Given the description of an element on the screen output the (x, y) to click on. 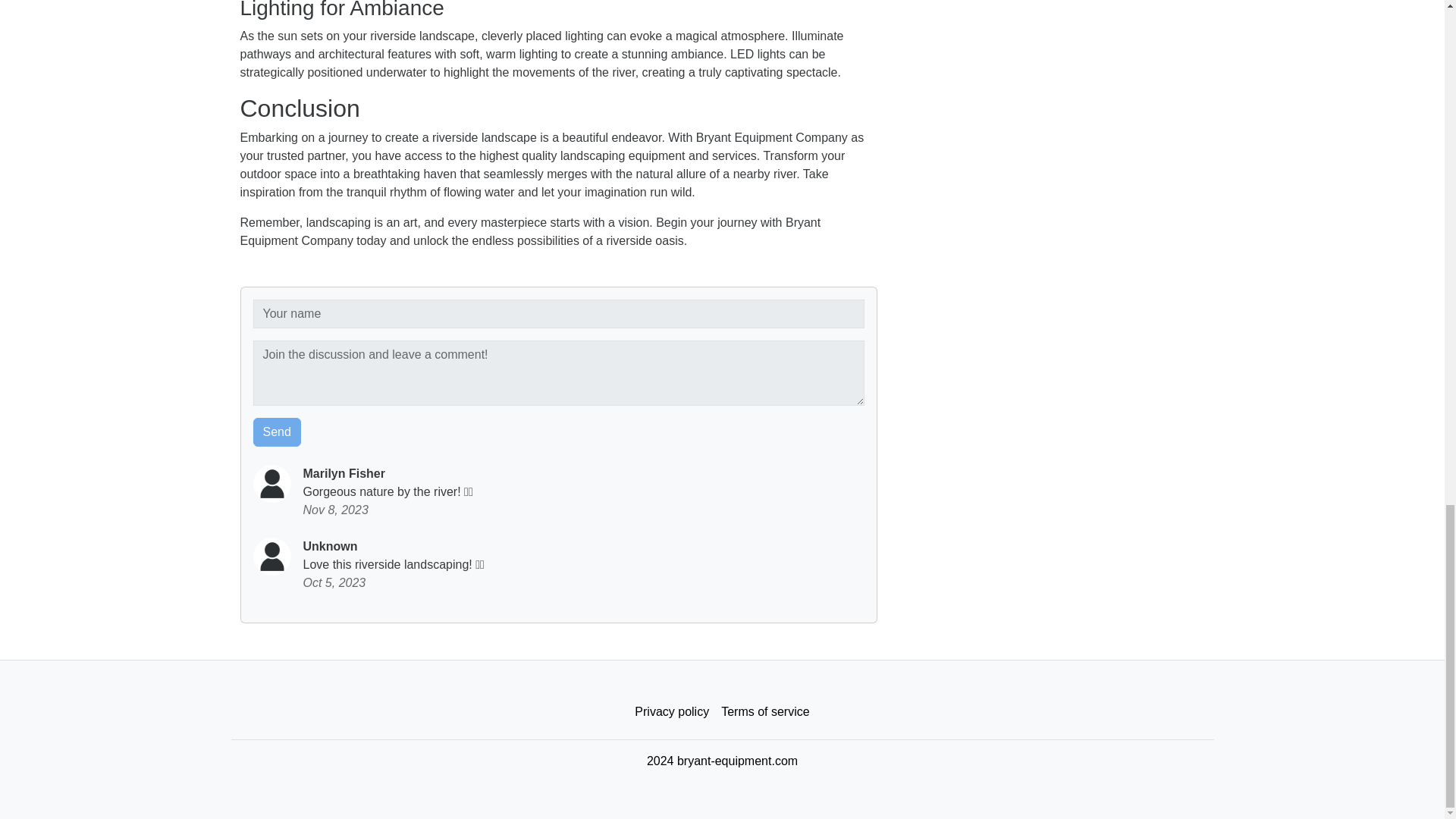
Send (277, 431)
Send (277, 431)
